Given the description of an element on the screen output the (x, y) to click on. 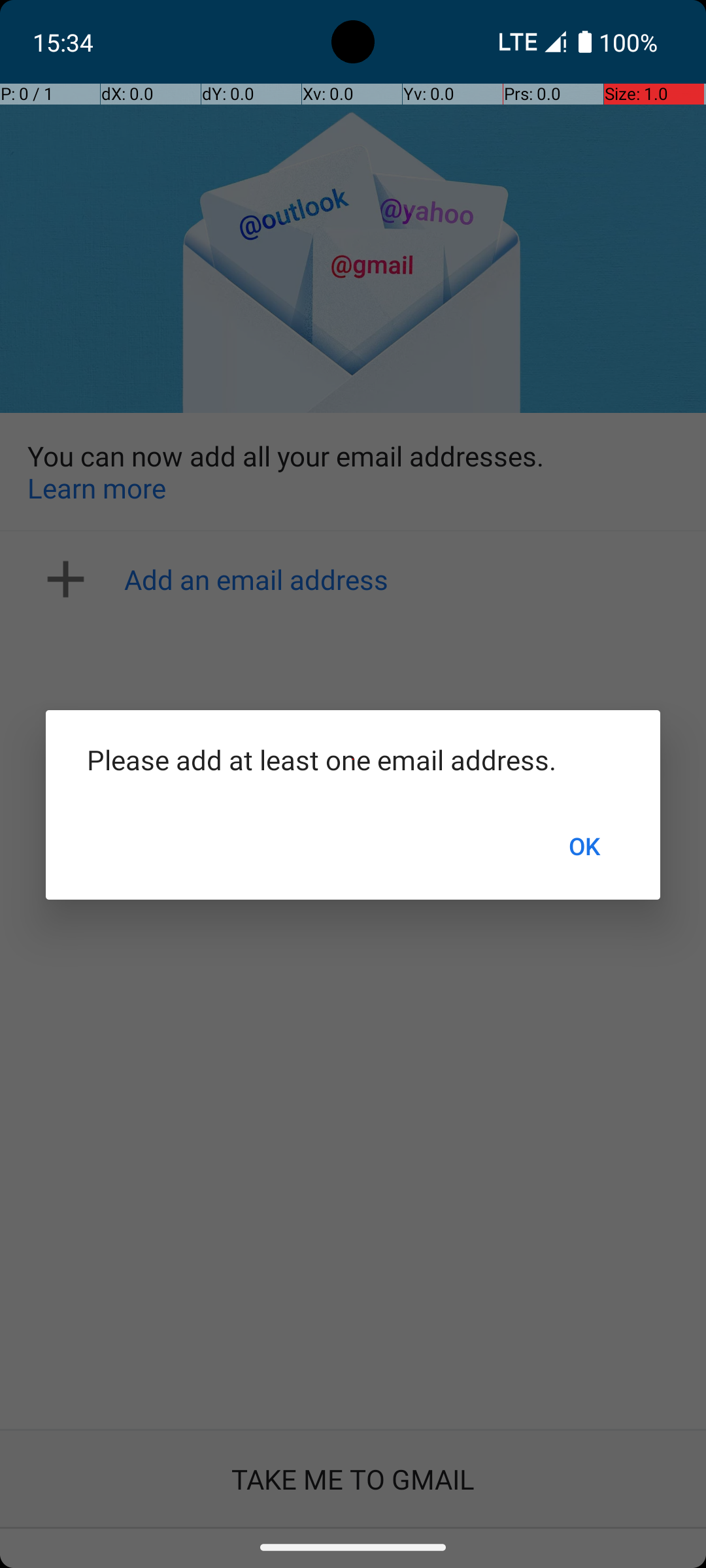
Please add at least one email address. Element type: android.widget.TextView (352, 759)
